Given the description of an element on the screen output the (x, y) to click on. 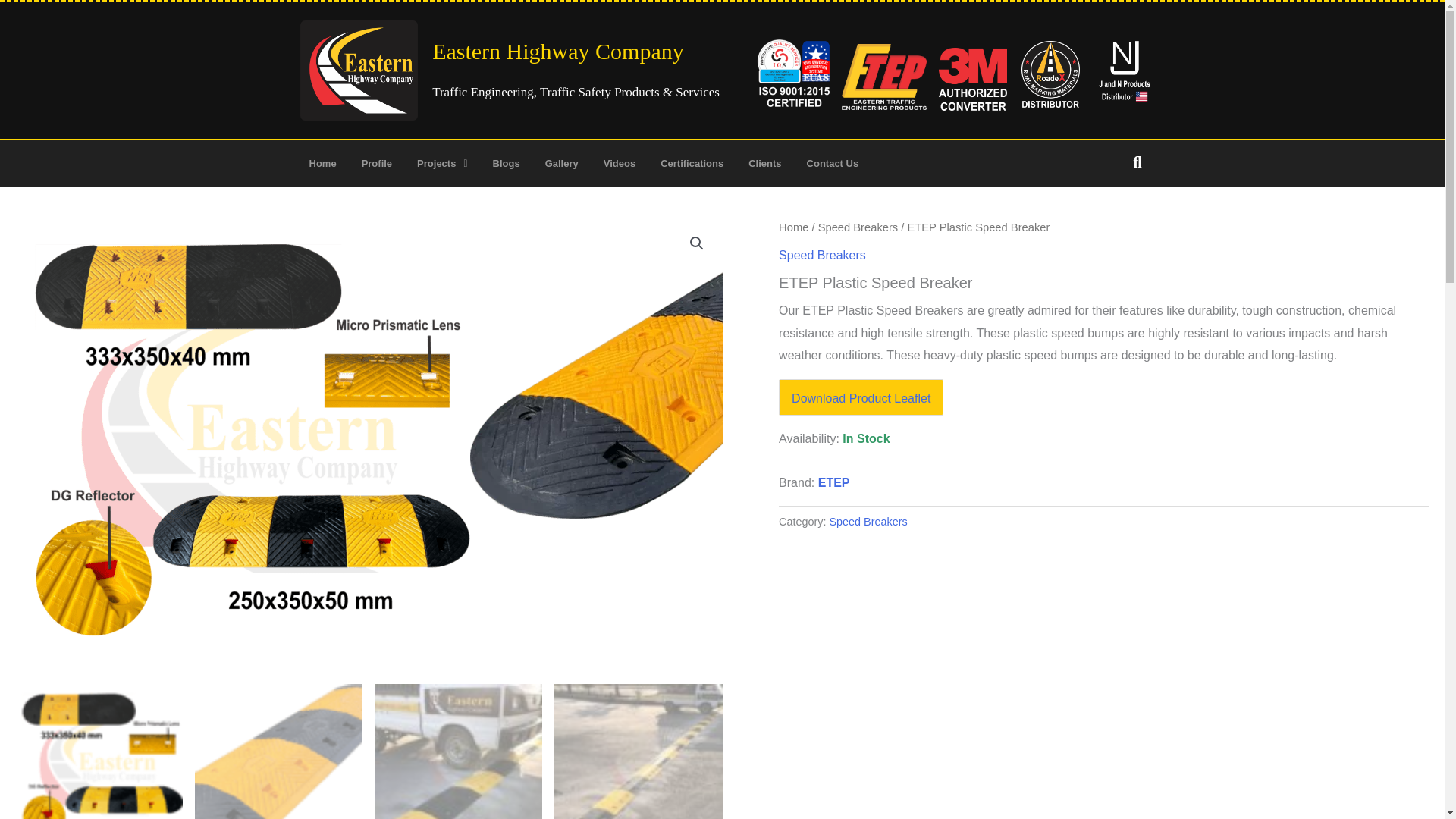
Profile (376, 163)
Home (322, 163)
Download Product Leaflet (861, 398)
Contact Us (832, 163)
Speed Breakers (822, 254)
Speed Breakers (858, 227)
Speed Breakers (868, 521)
Clients (764, 163)
Home (793, 227)
Videos (619, 163)
Search (1131, 162)
Projects (442, 163)
Certifications (692, 163)
